Given the description of an element on the screen output the (x, y) to click on. 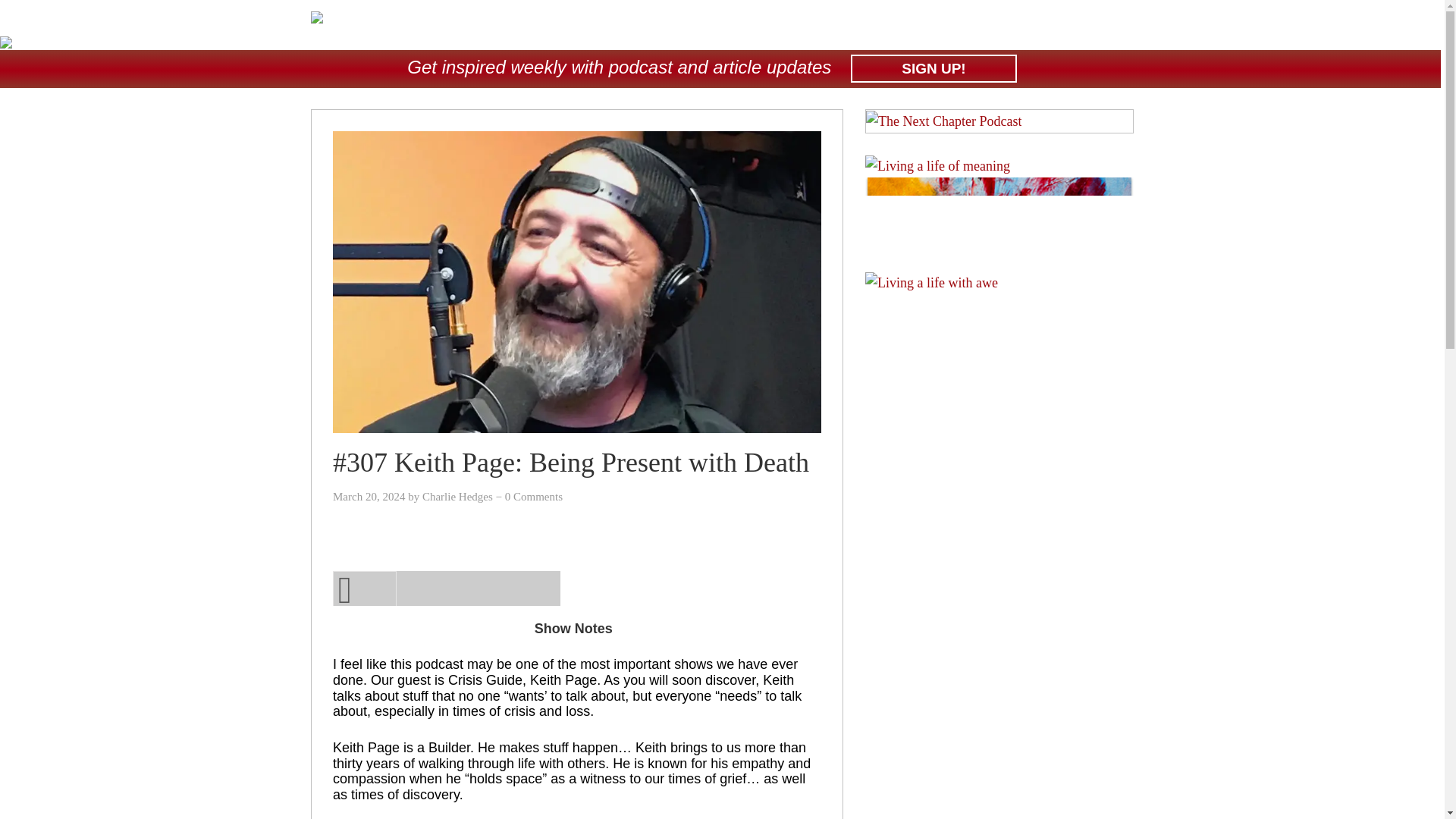
CONNECT (1104, 26)
The Next Chapter with Charlie (317, 15)
PODCAST (849, 26)
BLOG (927, 26)
SIGN UP! (933, 68)
ABOUT (766, 26)
COACHING (1010, 26)
